Given the description of an element on the screen output the (x, y) to click on. 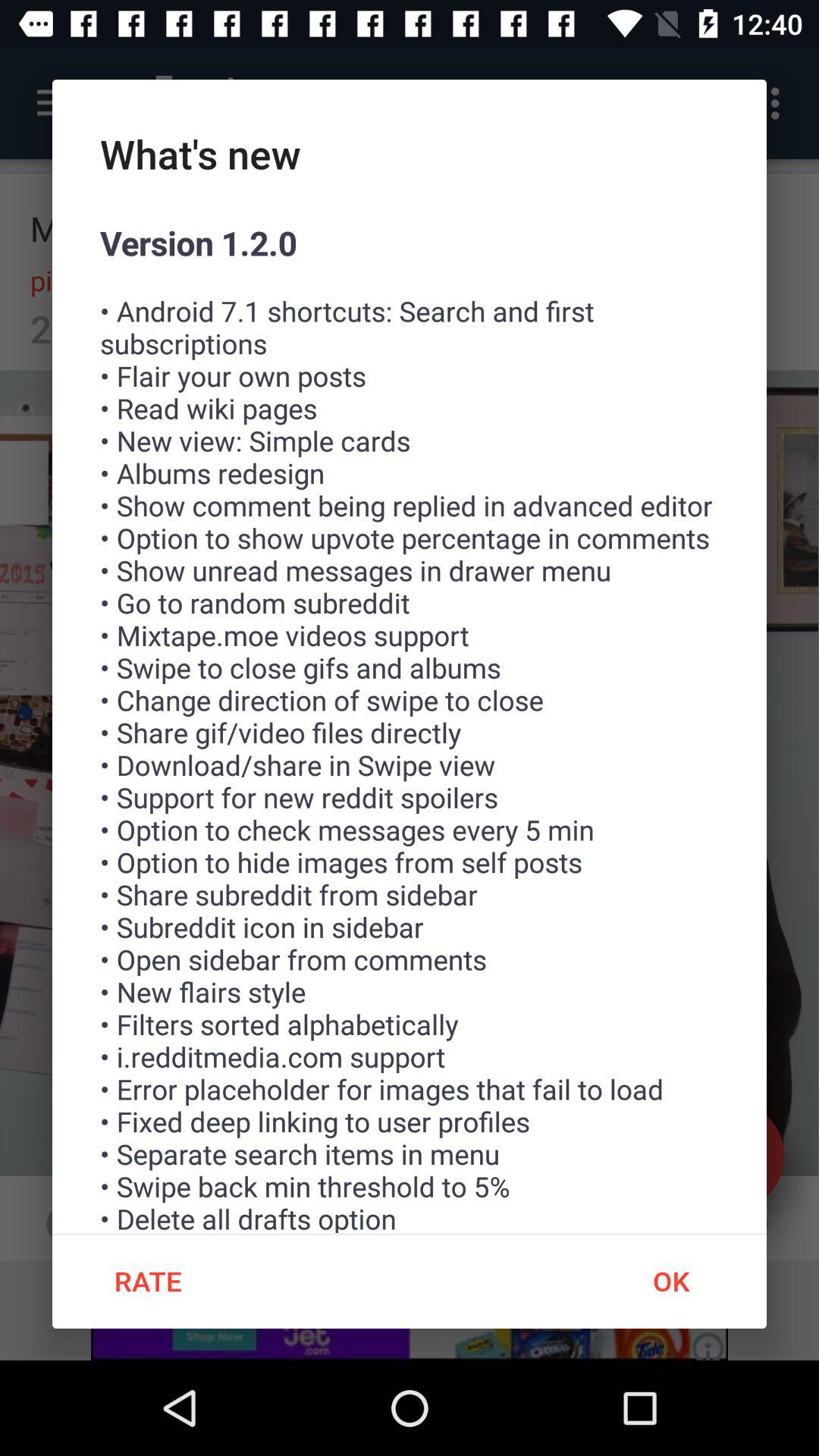
tap ok at the bottom right corner (670, 1280)
